Given the description of an element on the screen output the (x, y) to click on. 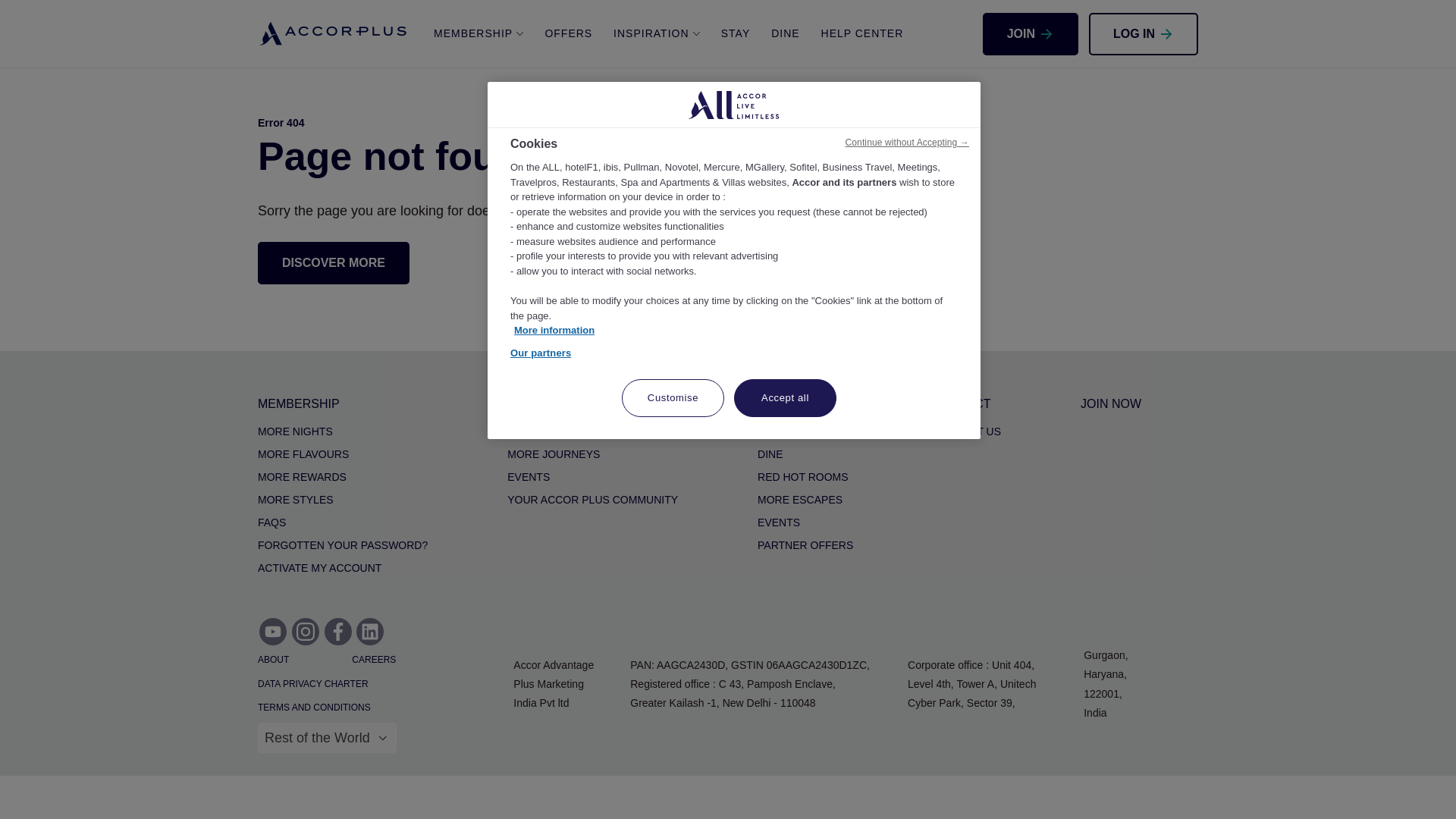
Accor Plus India (333, 33)
Opens a widget where you can find more information (1398, 792)
MEMBERSHIP (478, 33)
DINE (784, 33)
INSPIRATION (656, 33)
JOIN (1030, 33)
LOG IN (1143, 33)
HELP CENTER (862, 33)
DISCOVER MORE (333, 262)
STAY (735, 33)
OFFERS (568, 33)
this field is required (326, 737)
